Given the description of an element on the screen output the (x, y) to click on. 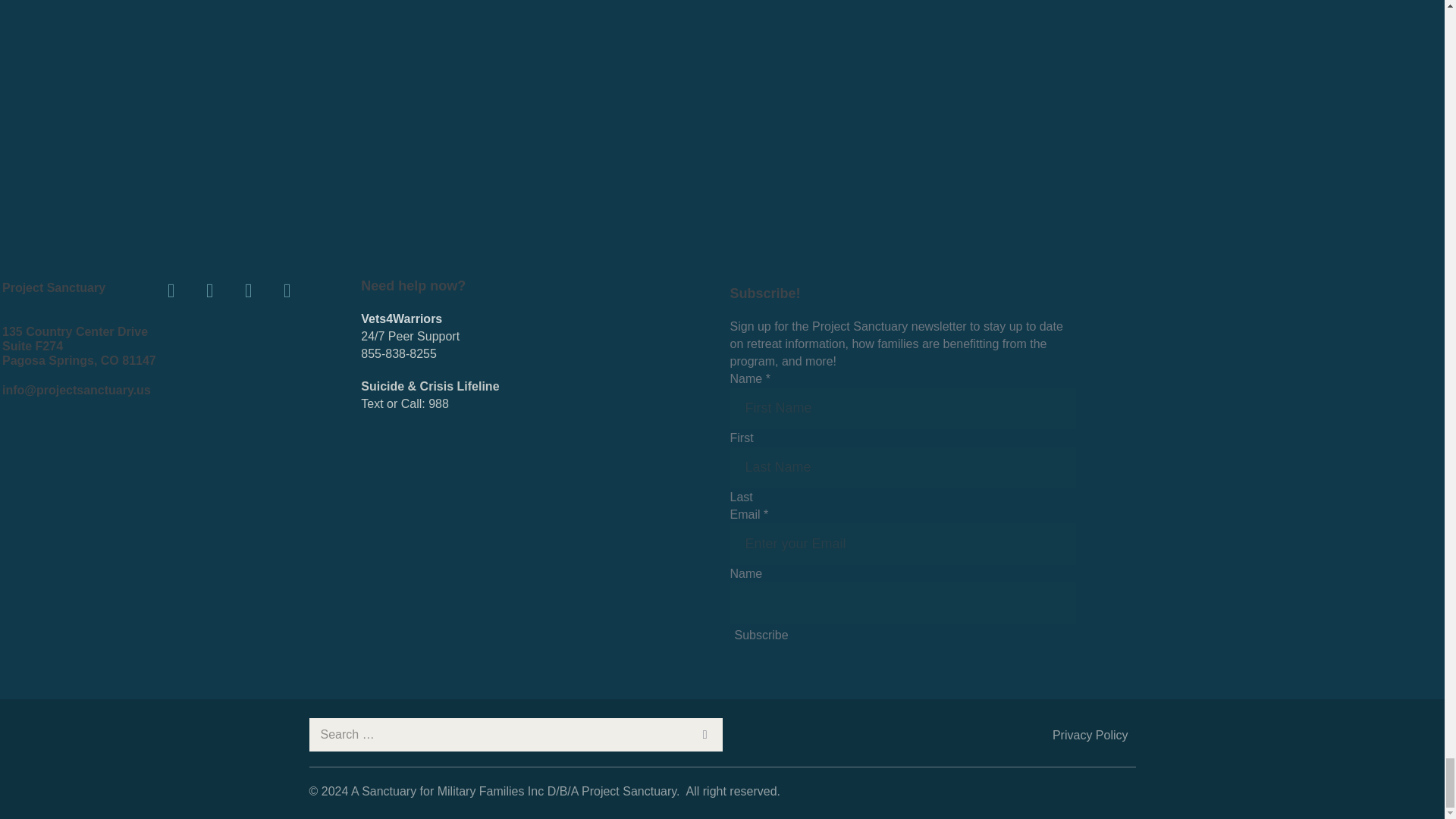
Press enter to search (515, 734)
